Given the description of an element on the screen output the (x, y) to click on. 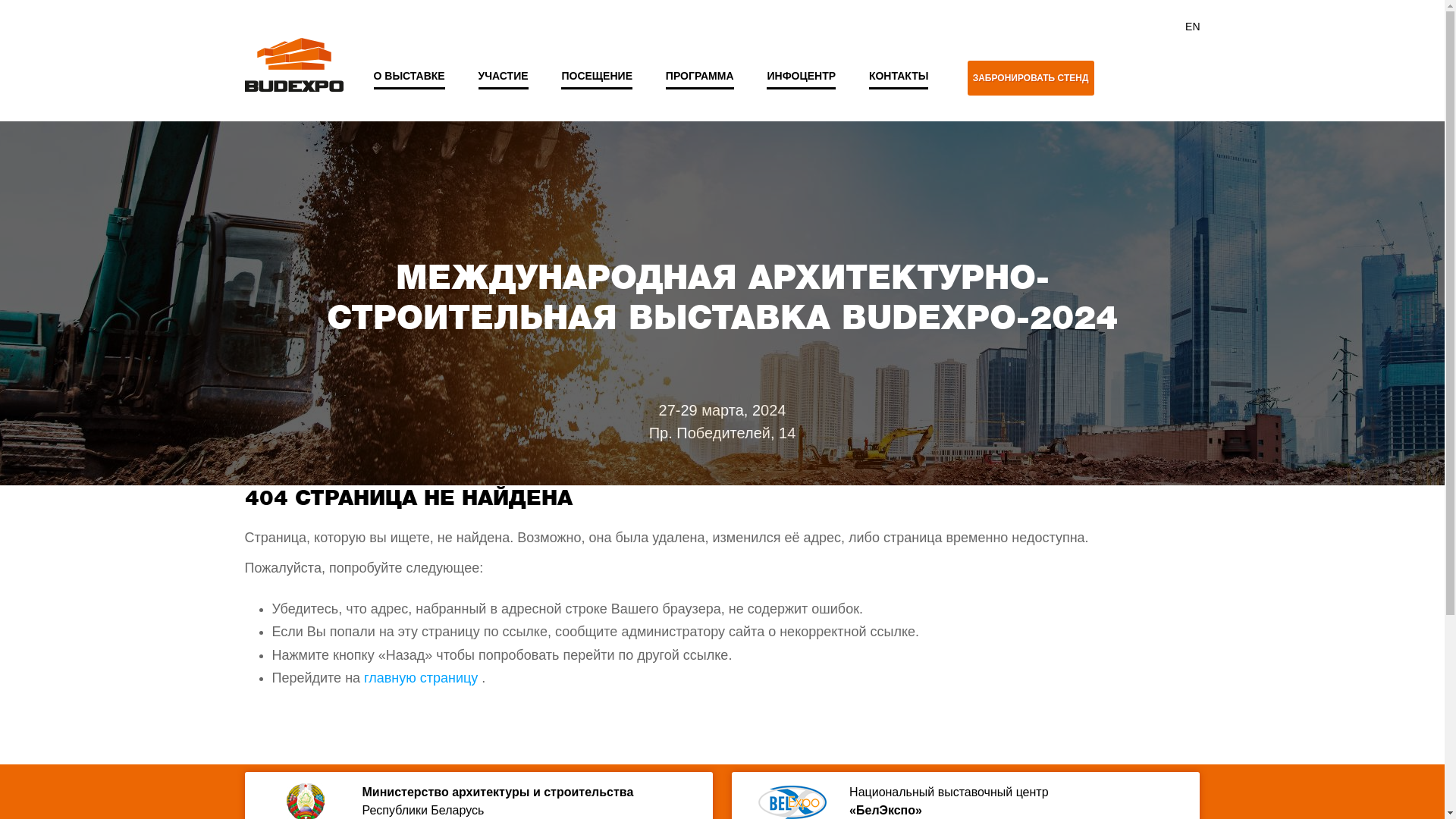
EN Element type: text (1192, 26)
